Given the description of an element on the screen output the (x, y) to click on. 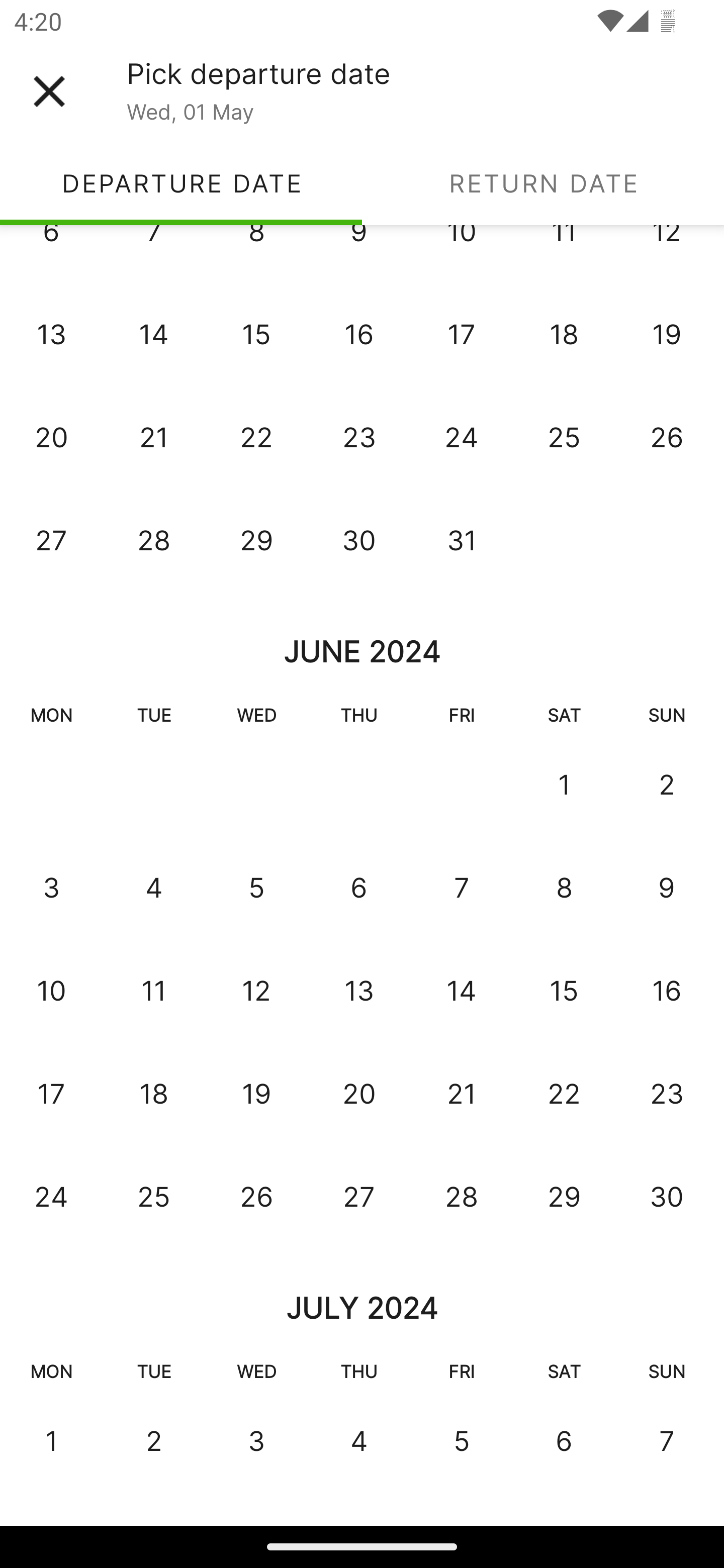
Return Date RETURN DATE (543, 183)
